Given the description of an element on the screen output the (x, y) to click on. 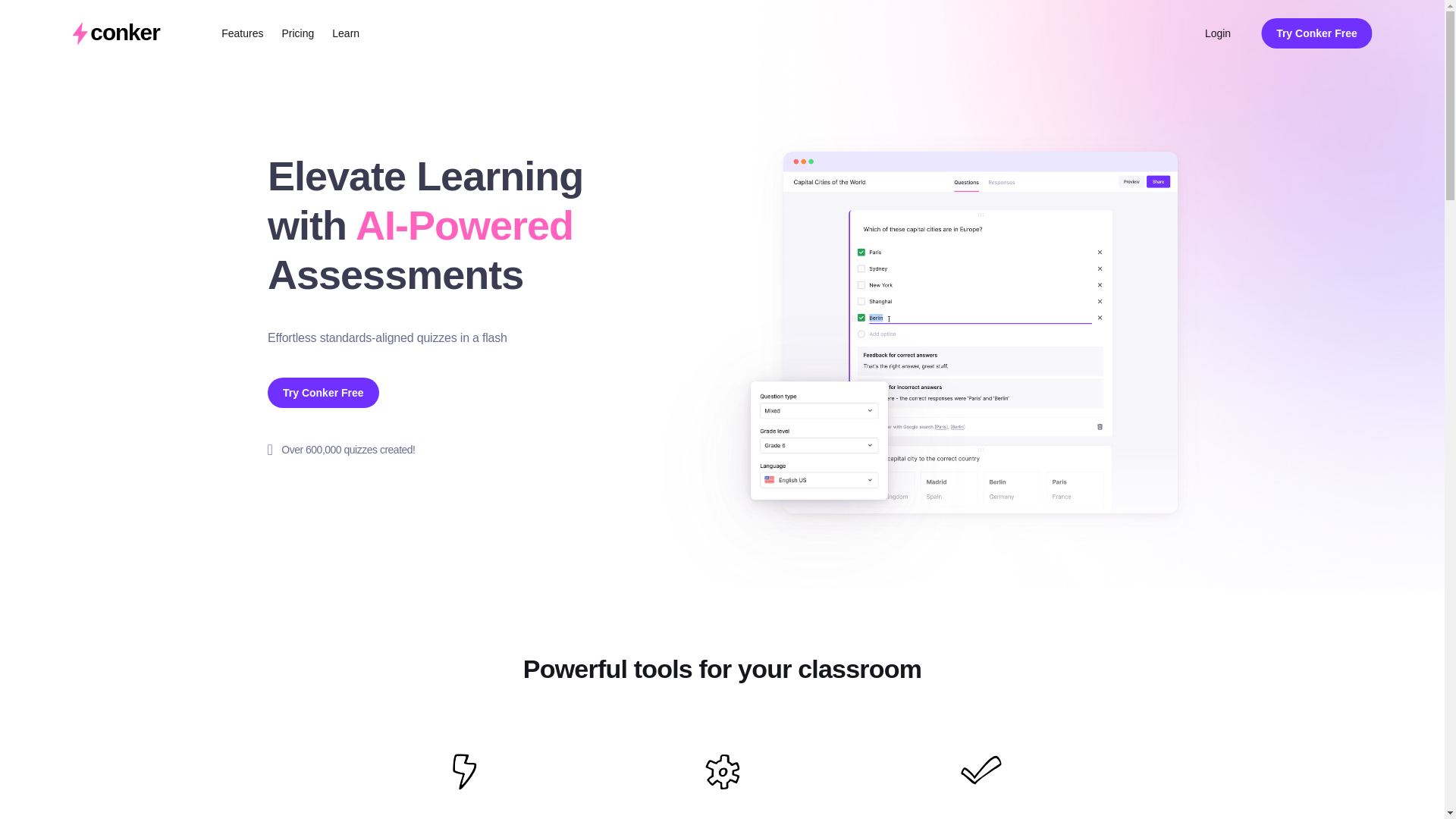
Pricing (298, 33)
Try Conker Free (1316, 33)
Login (1217, 33)
Learn (345, 33)
conker (115, 33)
Try Conker Free (322, 392)
Features (242, 33)
